Given the description of an element on the screen output the (x, y) to click on. 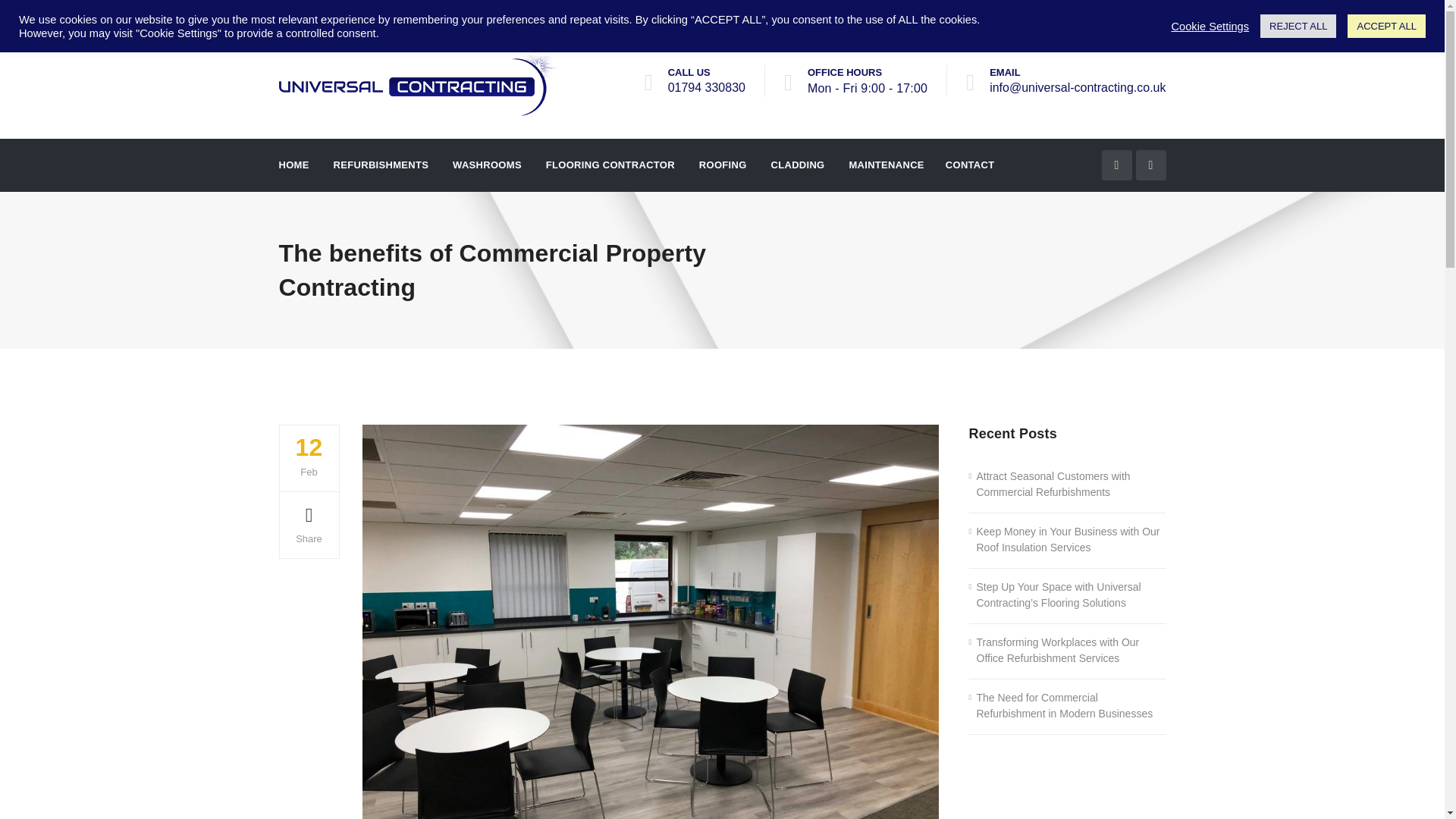
 FLOORING CONTRACTOR (609, 164)
CONTACT (969, 164)
 ROOFING (720, 164)
 MAINTENANCE (884, 164)
 REFURBISHMENTS (379, 164)
 CLADDING (796, 164)
Attract Seasonal Customers with Commercial Refurbishments (1067, 484)
01794 330830 (706, 86)
The Need for Commercial Refurbishment in Modern Businesses (1067, 705)
 WASHROOMS (485, 164)
